Given the description of an element on the screen output the (x, y) to click on. 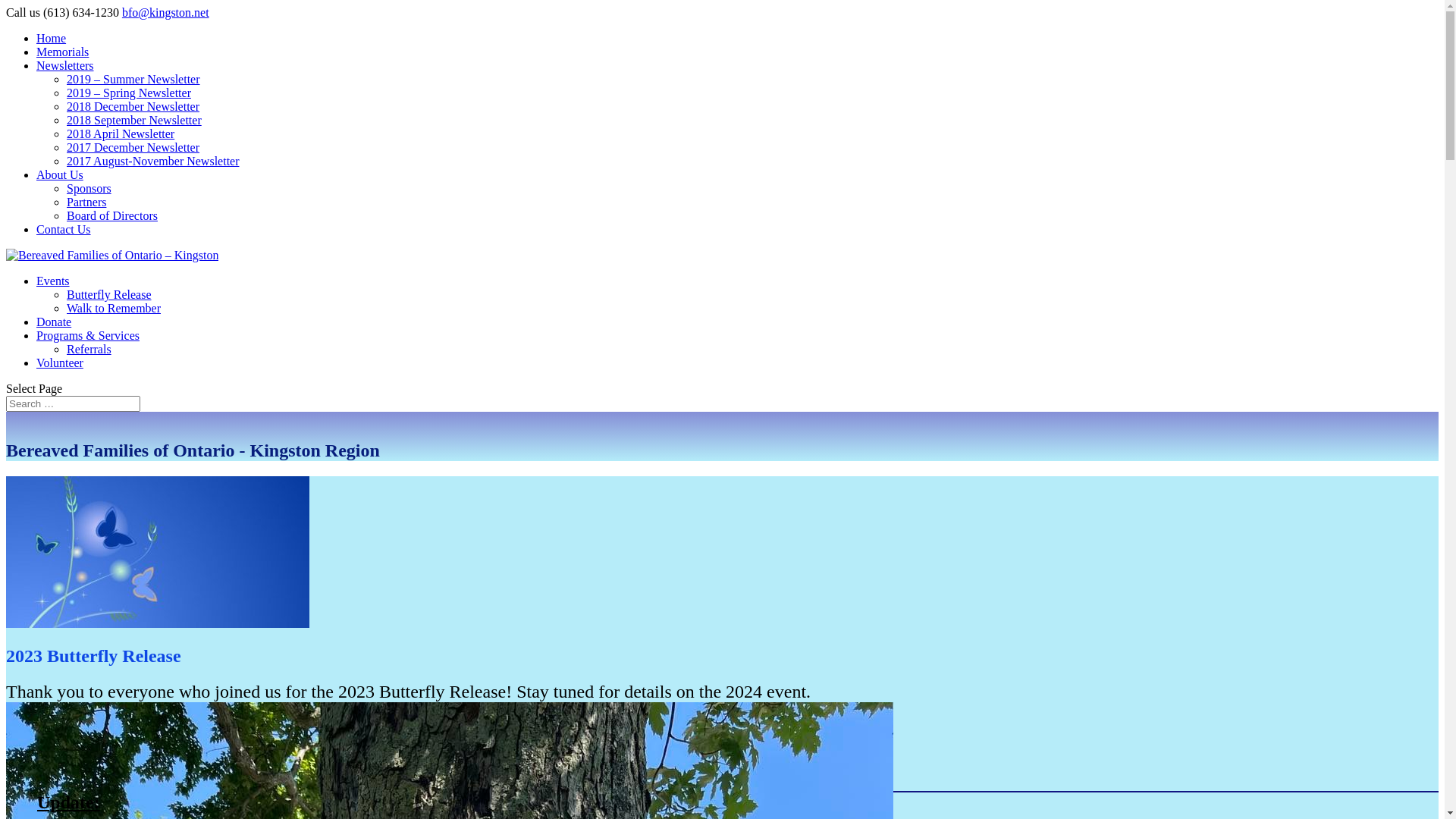
2018 December Newsletter Element type: text (132, 106)
Home Element type: text (50, 37)
Donate Element type: text (53, 321)
Search for: Element type: hover (73, 403)
2018 September Newsletter Element type: text (133, 119)
Butterfly Release Element type: text (108, 294)
2017 December Newsletter Element type: text (132, 147)
bfo@kingston.net Element type: text (165, 12)
Sponsors Element type: text (88, 188)
Referrals Element type: text (88, 348)
Programs & Services Element type: text (87, 335)
Volunteer Element type: text (59, 362)
Contact Us Element type: text (63, 228)
Newsletters Element type: text (65, 65)
Board of Directors Element type: text (111, 215)
Events Element type: text (52, 280)
About Us Element type: text (59, 174)
2018 April Newsletter Element type: text (120, 133)
2017 August-November Newsletter Element type: text (152, 160)
Memorials Element type: text (62, 51)
Partners Element type: text (86, 201)
Walk to Remember Element type: text (113, 307)
